Given the description of an element on the screen output the (x, y) to click on. 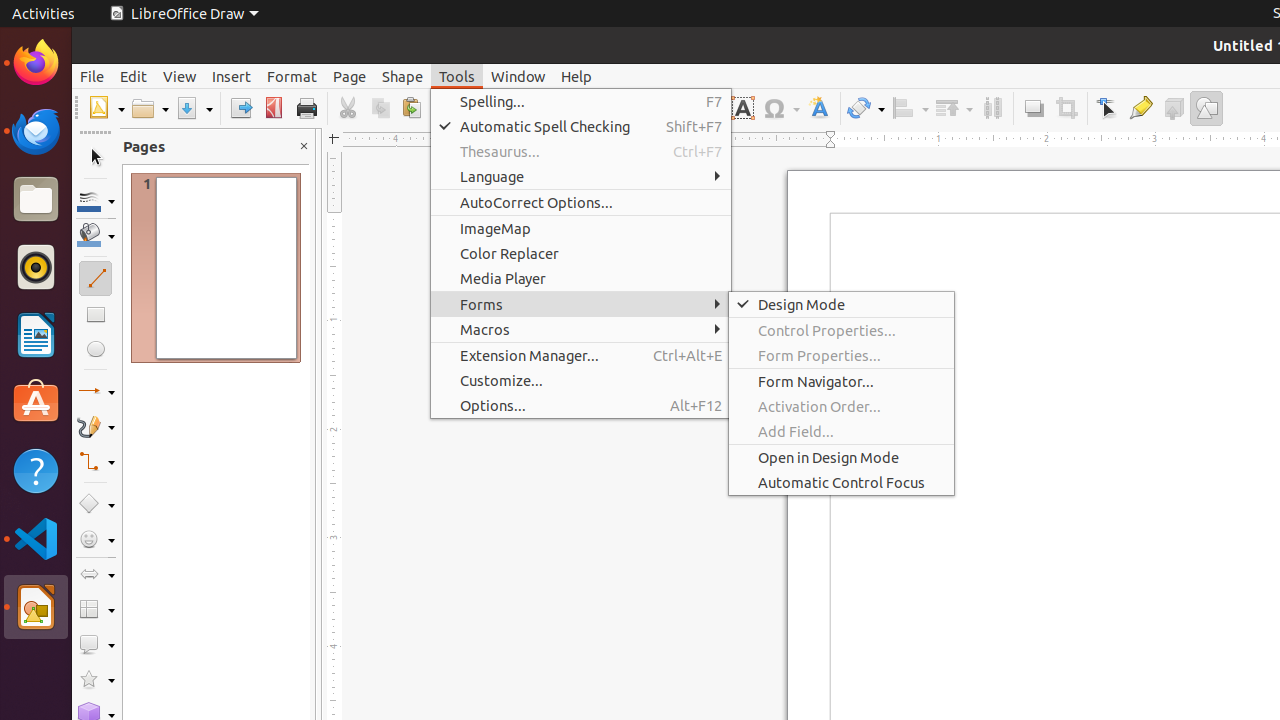
Close Pane Element type: push-button (303, 146)
Add Field... Element type: menu-item (841, 431)
New Element type: push-button (106, 108)
Forms Element type: menu (581, 304)
Window Element type: menu (518, 76)
